Given the description of an element on the screen output the (x, y) to click on. 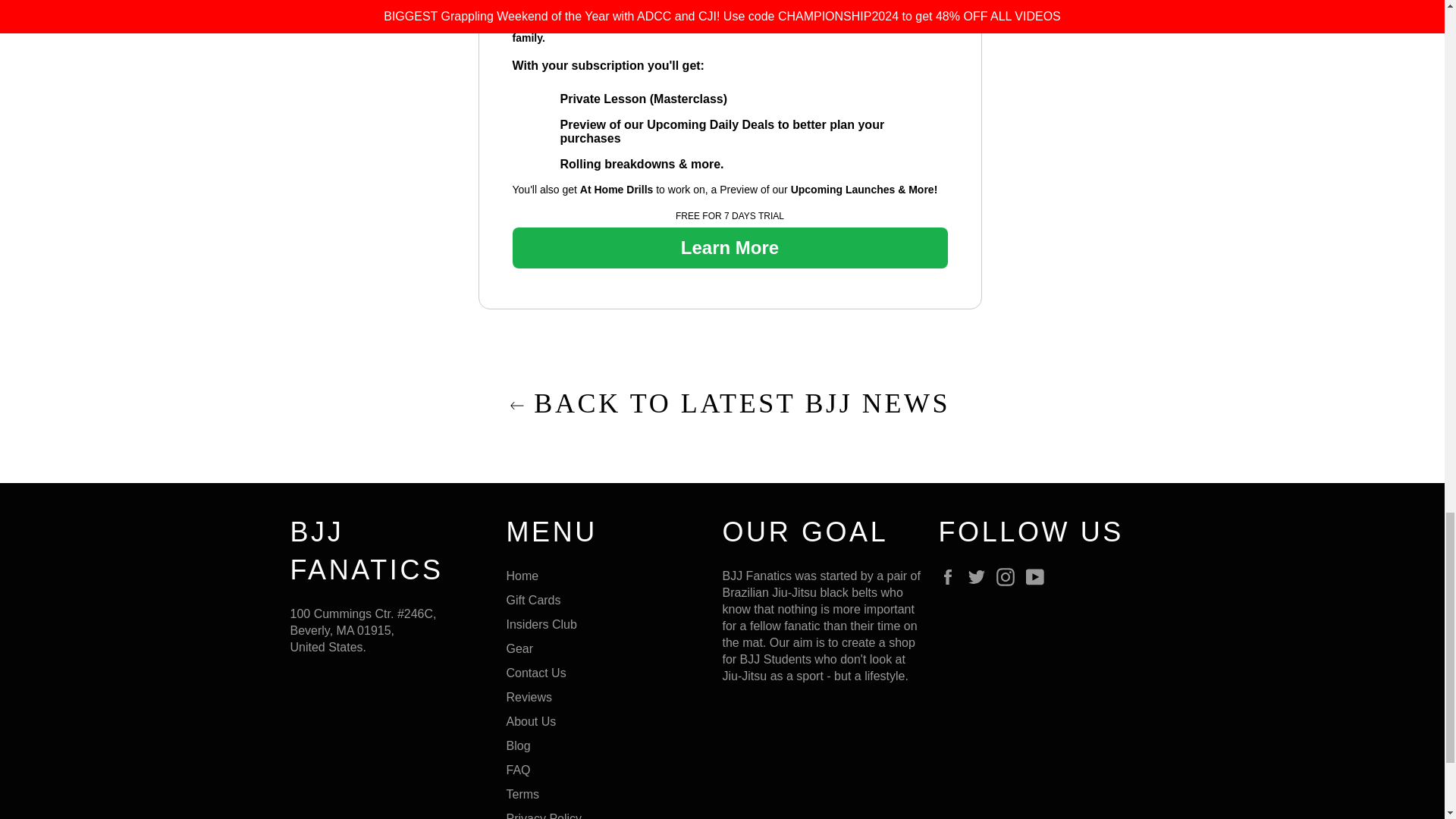
BJJ Fanatics on YouTube (1038, 577)
BJJ Fanatics on Instagram (1008, 577)
BJJ Fanatics on Facebook (951, 577)
BJJ Fanatics on Twitter (980, 577)
